Given the description of an element on the screen output the (x, y) to click on. 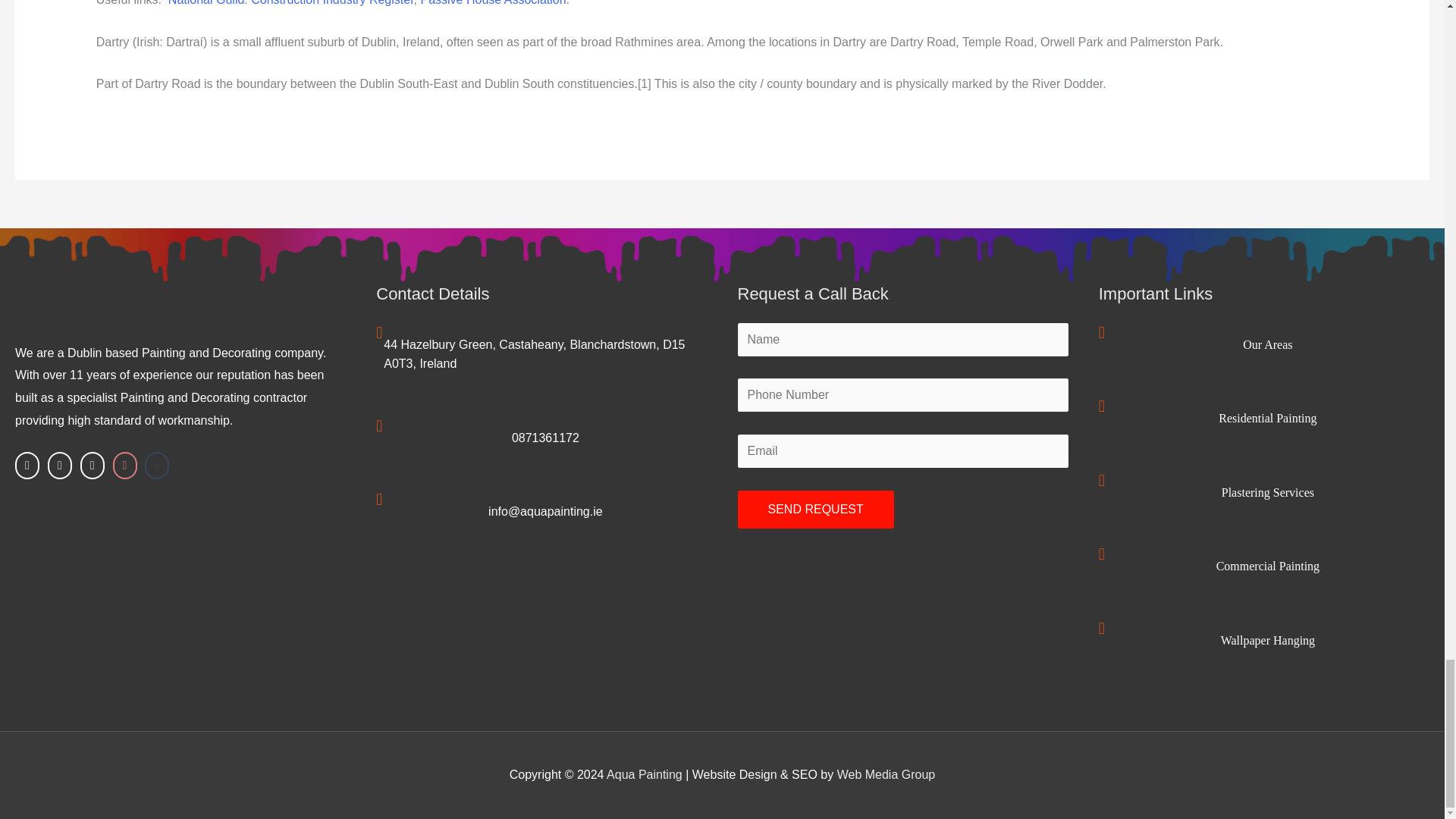
National Guild (206, 2)
0871361172 (545, 437)
Construction Industry Register (331, 2)
SEND REQUEST (814, 509)
Passive House Association (493, 2)
